Given the description of an element on the screen output the (x, y) to click on. 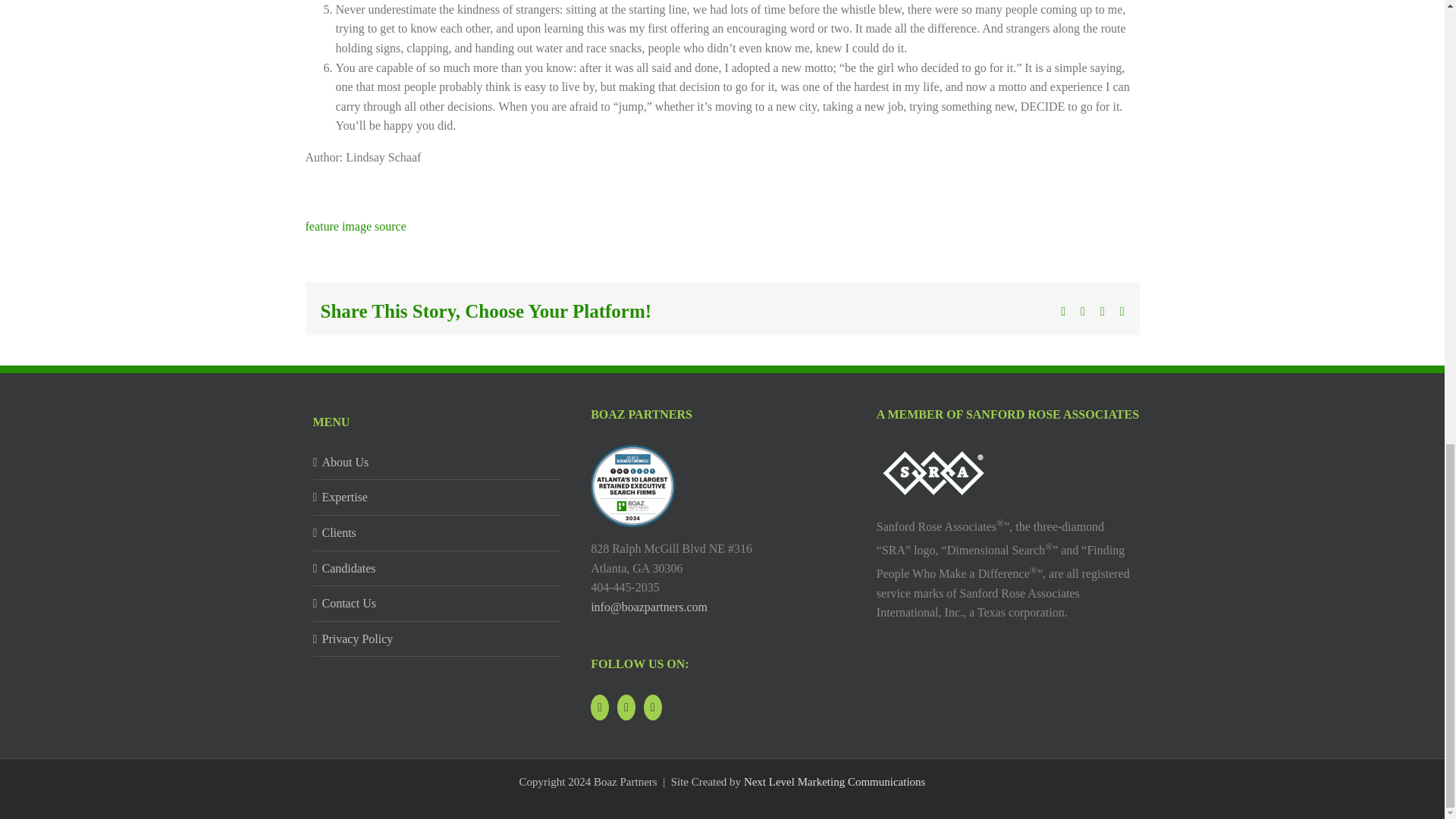
Privacy Policy (437, 639)
Candidates (437, 568)
Clients (437, 532)
About Us (437, 462)
feature image source (355, 226)
Expertise (437, 496)
Contact Us (437, 603)
